Given the description of an element on the screen output the (x, y) to click on. 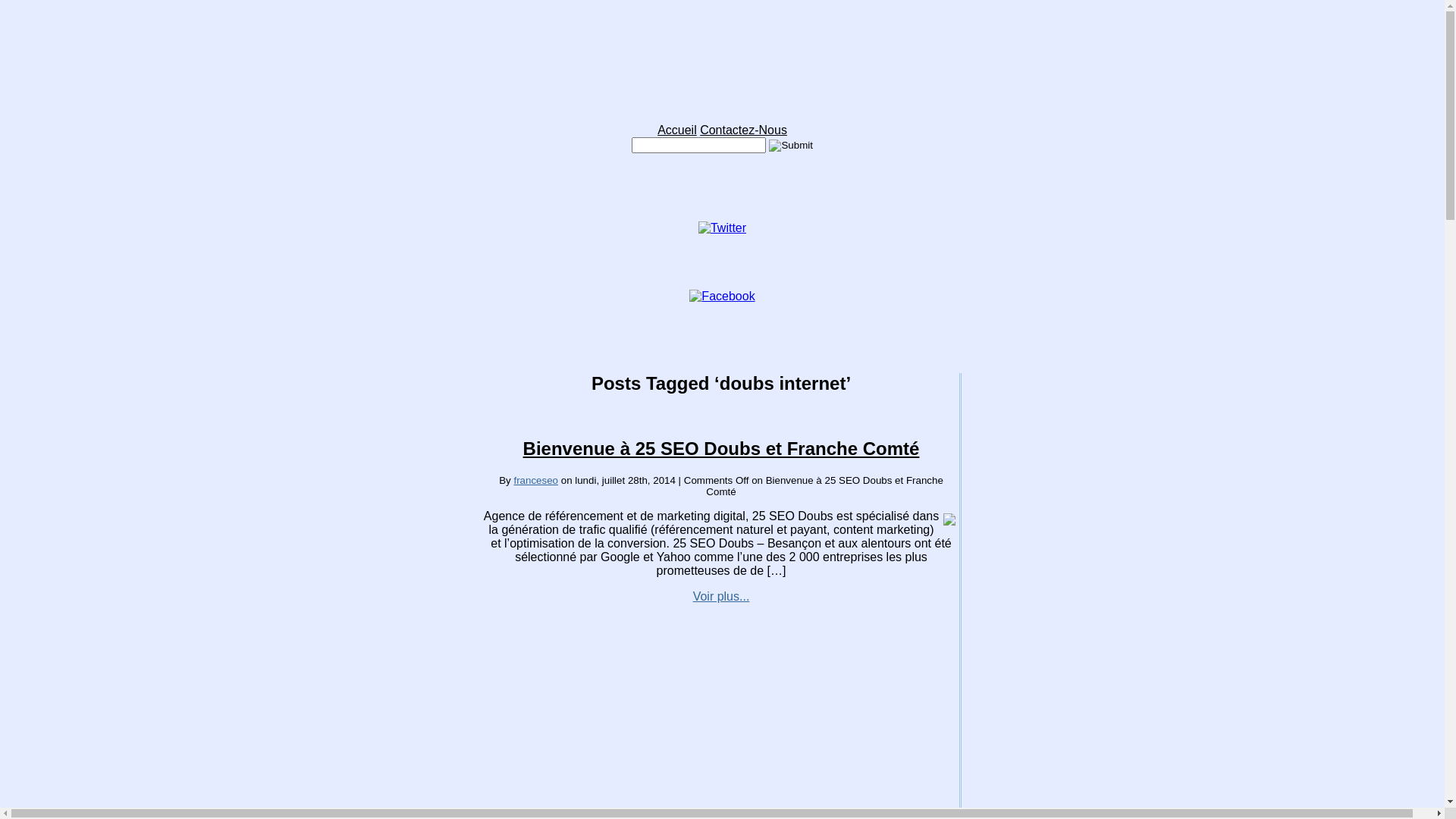
Contactez-Nous Element type: text (743, 129)
Voir plus... Element type: text (721, 595)
Accueil Element type: text (676, 129)
Advertisement Element type: hover (720, 698)
franceseo Element type: text (535, 480)
